Given the description of an element on the screen output the (x, y) to click on. 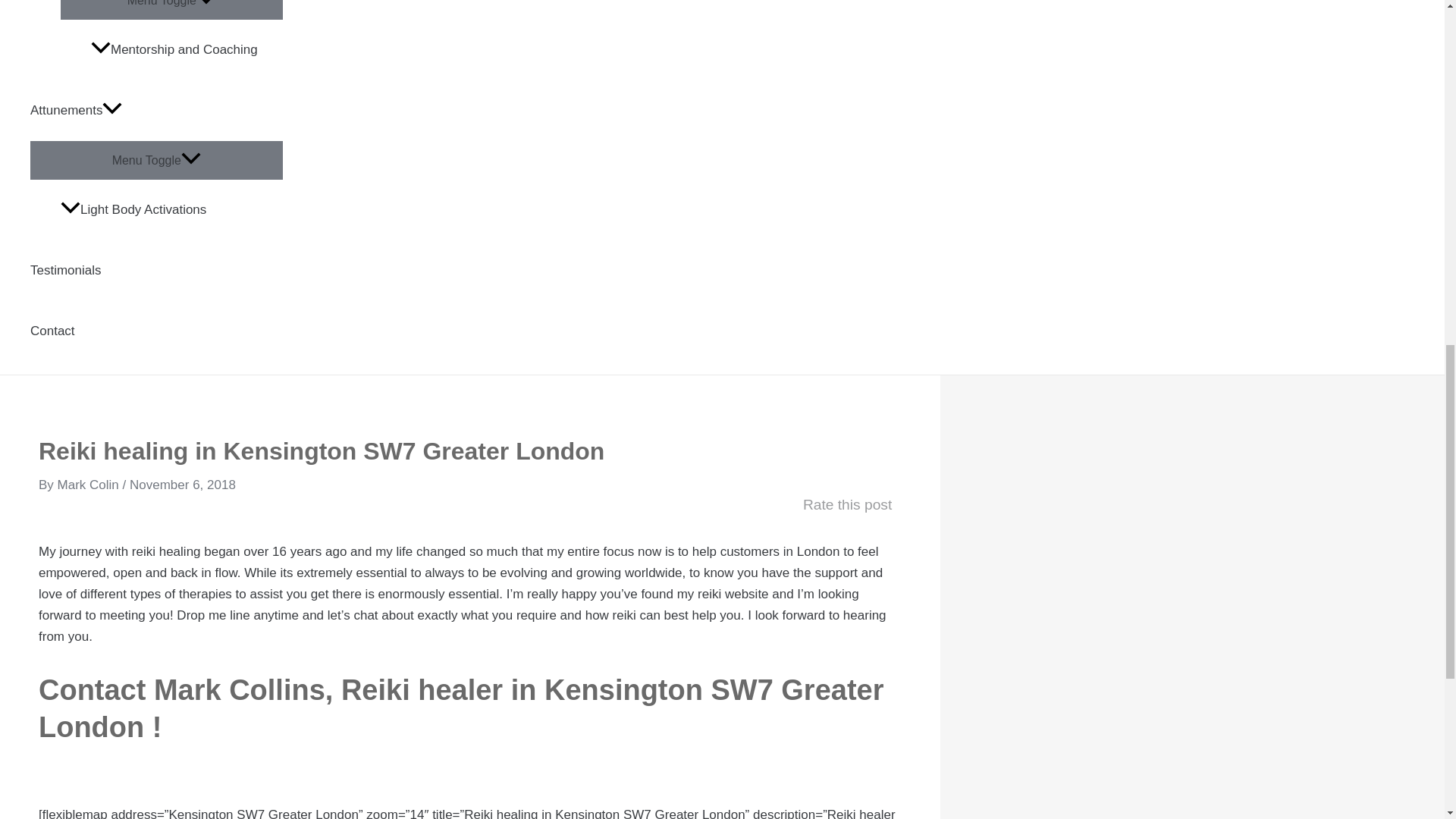
Mentorship and Coaching (186, 49)
Menu Toggle (171, 9)
Contact (156, 331)
Testimonials (156, 270)
Menu Toggle (156, 159)
Light Body Activations (171, 209)
Attunements (156, 110)
View all posts by Mark Colin (90, 484)
